Given the description of an element on the screen output the (x, y) to click on. 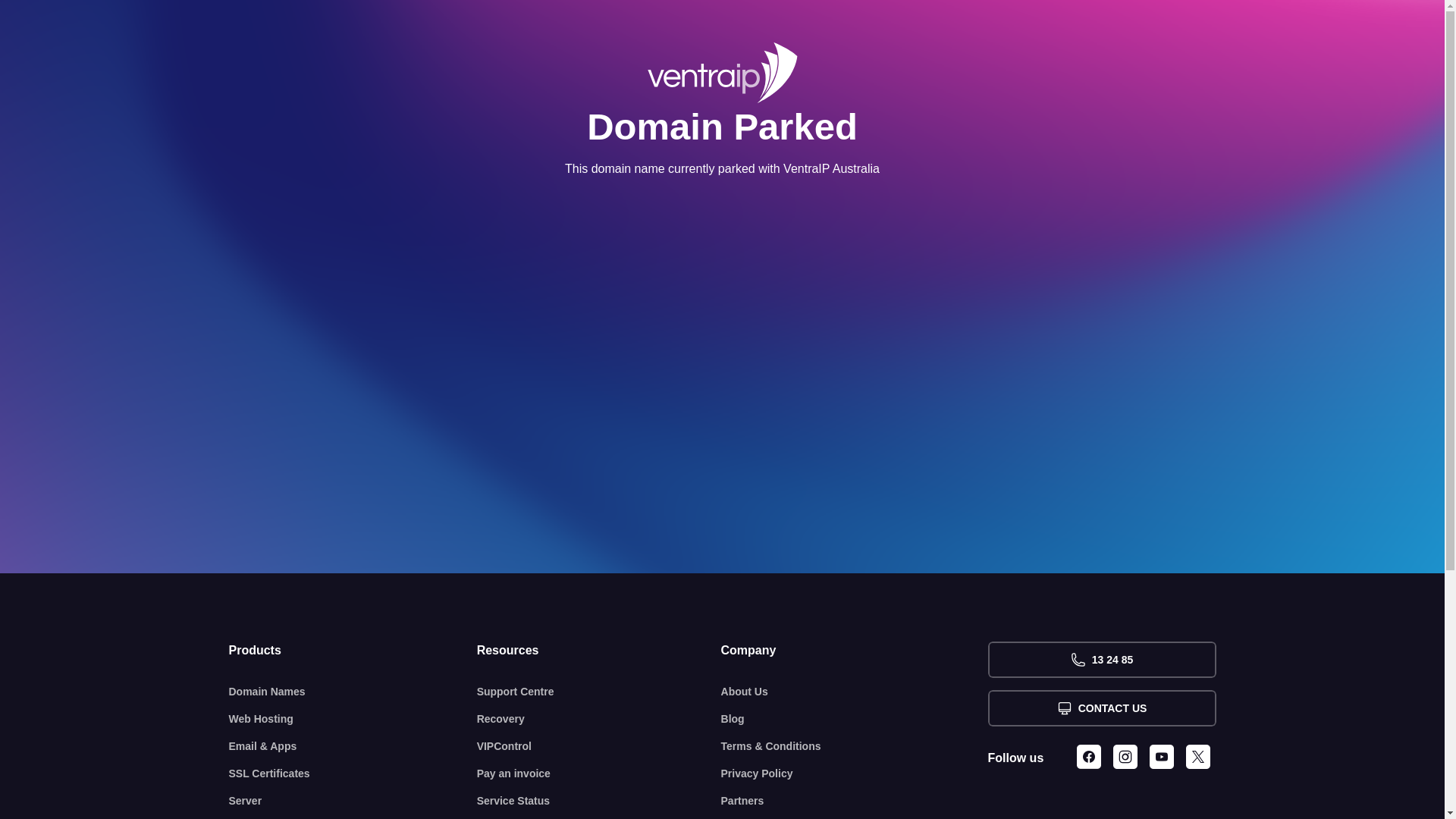
Domain Names Element type: text (352, 691)
Terms & Conditions Element type: text (854, 745)
Web Hosting Element type: text (352, 718)
CONTACT US Element type: text (1101, 708)
SSL Certificates Element type: text (352, 773)
Privacy Policy Element type: text (854, 773)
Server Element type: text (352, 800)
Recovery Element type: text (598, 718)
Service Status Element type: text (598, 800)
Partners Element type: text (854, 800)
VIPControl Element type: text (598, 745)
About Us Element type: text (854, 691)
Blog Element type: text (854, 718)
Support Centre Element type: text (598, 691)
13 24 85 Element type: text (1101, 659)
Pay an invoice Element type: text (598, 773)
Email & Apps Element type: text (352, 745)
